Given the description of an element on the screen output the (x, y) to click on. 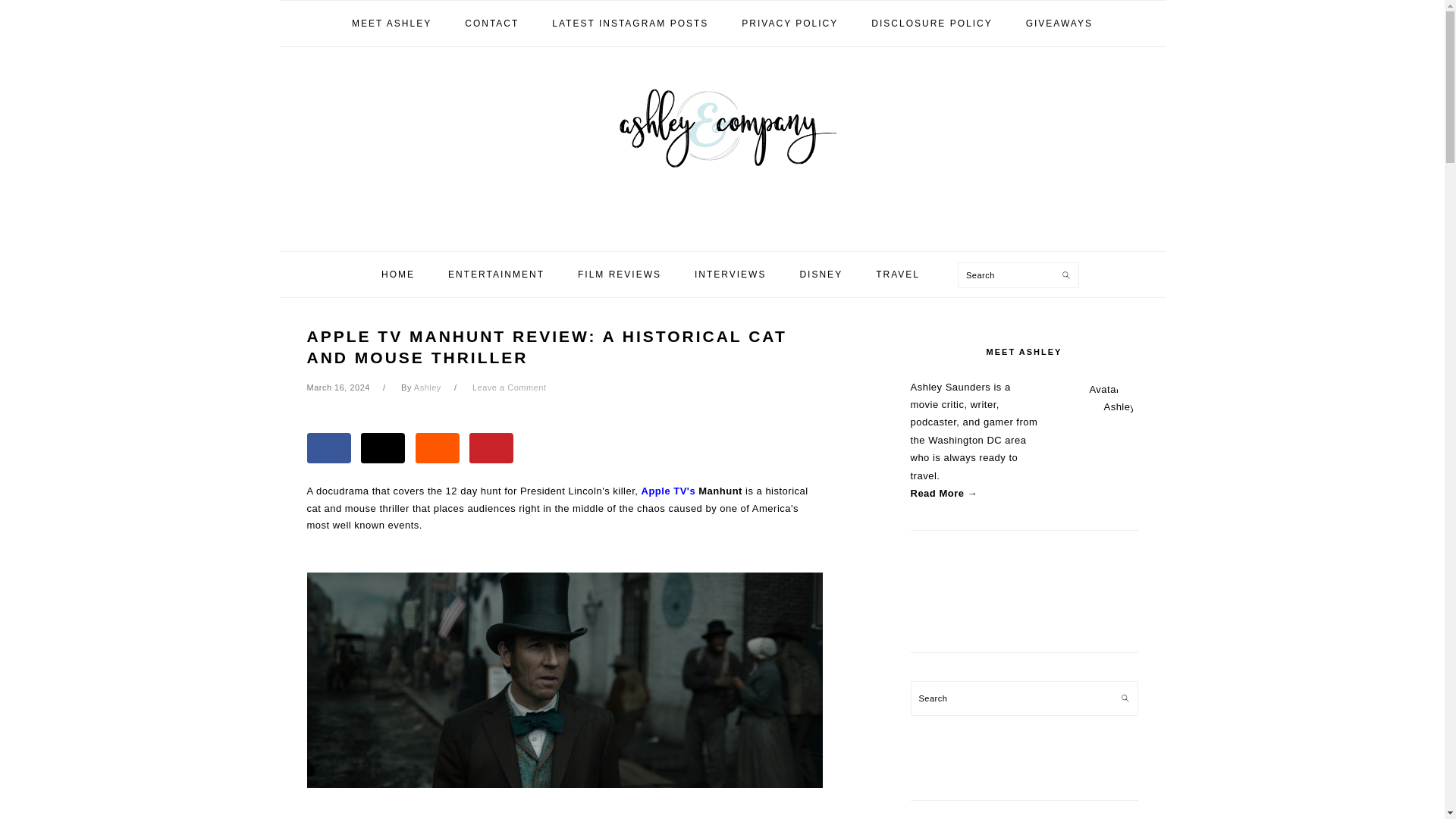
GIVEAWAYS (1059, 22)
Ashley (427, 387)
ENTERTAINMENT (496, 274)
Share on Facebook (327, 448)
Leave a Comment (508, 387)
Apple TV's (668, 490)
CONTACT (491, 22)
HOME (397, 274)
Share on X (382, 448)
